Given the description of an element on the screen output the (x, y) to click on. 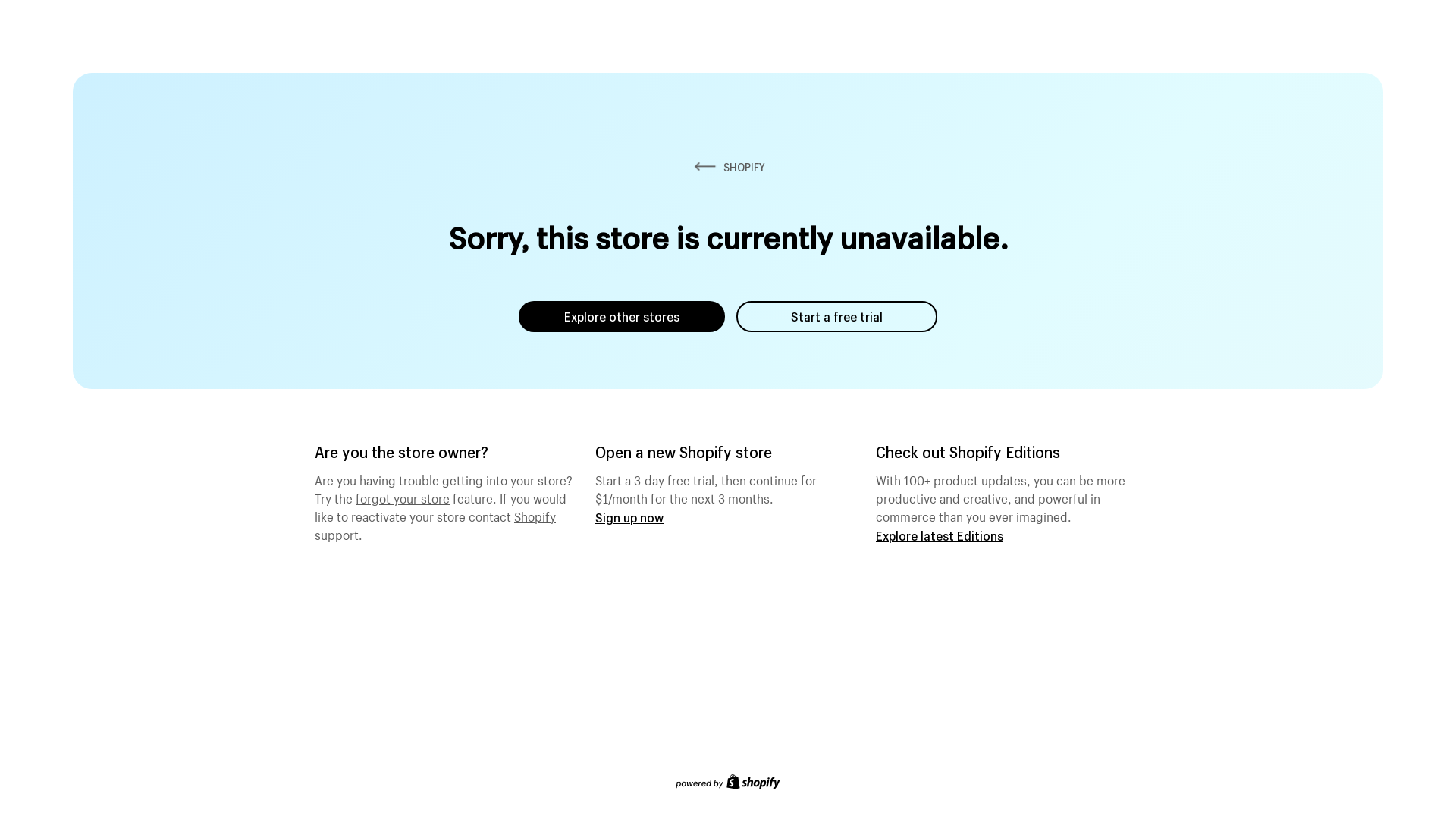
Sign up now Element type: text (629, 517)
forgot your store Element type: text (402, 496)
Shopify support Element type: text (434, 523)
Explore latest Editions Element type: text (939, 535)
Start a free trial Element type: text (836, 316)
Explore other stores Element type: text (621, 316)
SHOPIFY Element type: text (727, 167)
